Given the description of an element on the screen output the (x, y) to click on. 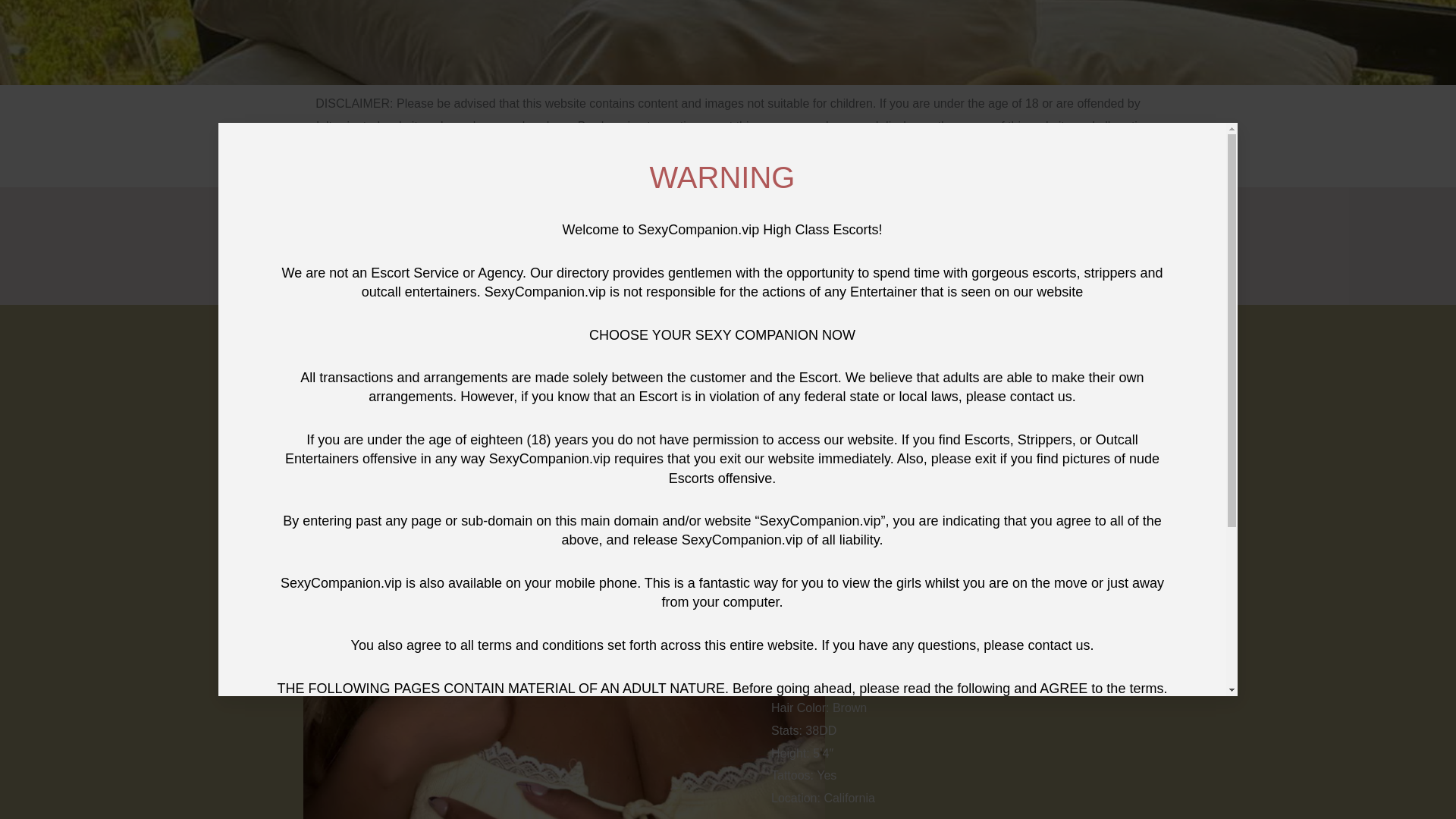
EXIT (909, 28)
I AGREE (546, 28)
